Given the description of an element on the screen output the (x, y) to click on. 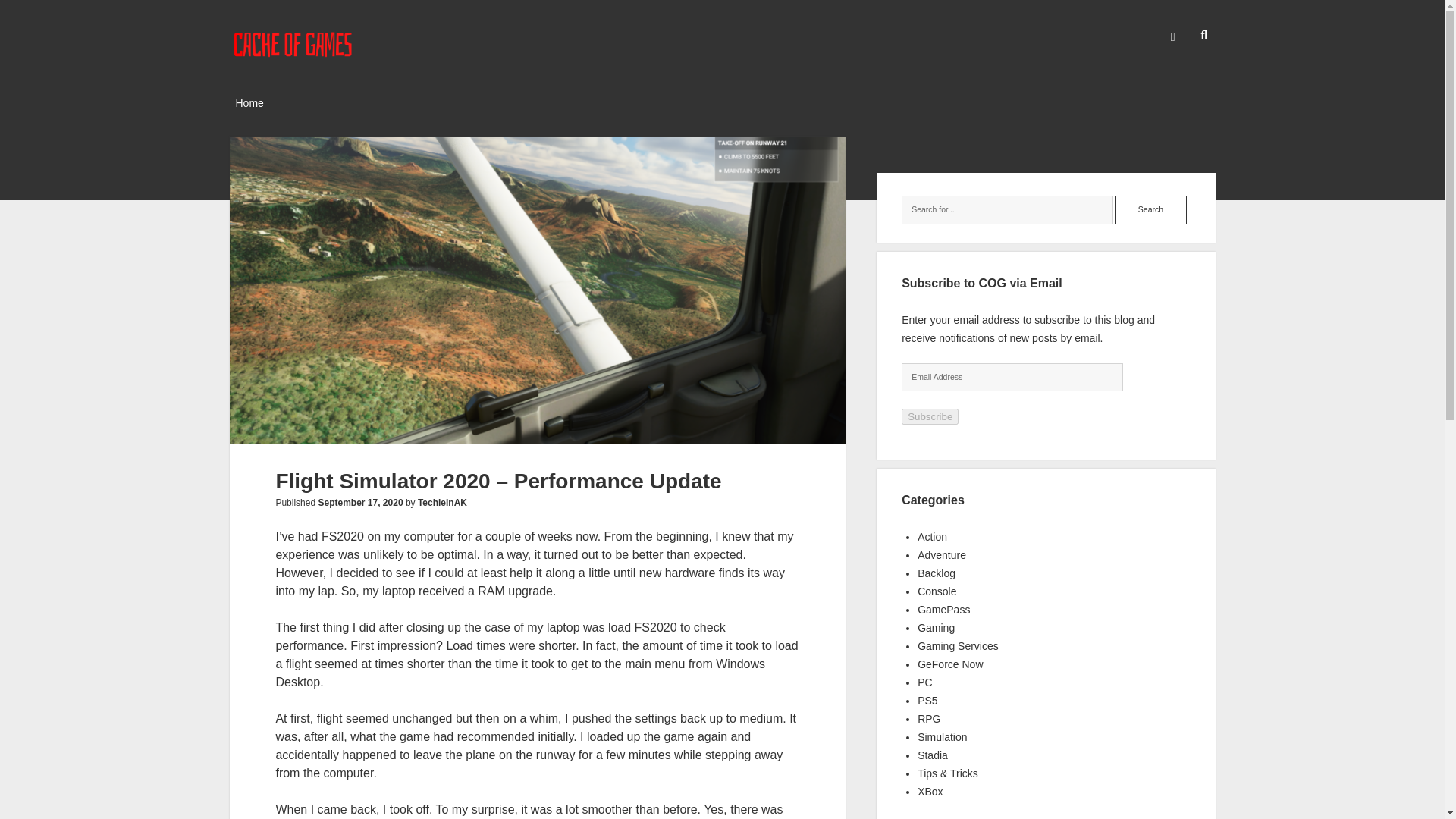
Search (1150, 209)
Search (1150, 209)
Stadia (932, 755)
Gaming Services (957, 645)
Subscribe (929, 416)
Cache of Games (292, 55)
Console (936, 591)
Adventure (941, 554)
Home (248, 103)
PC (924, 682)
GeForce Now (949, 664)
Search (1150, 209)
Backlog (936, 573)
PS5 (927, 700)
GamePass (943, 609)
